Given the description of an element on the screen output the (x, y) to click on. 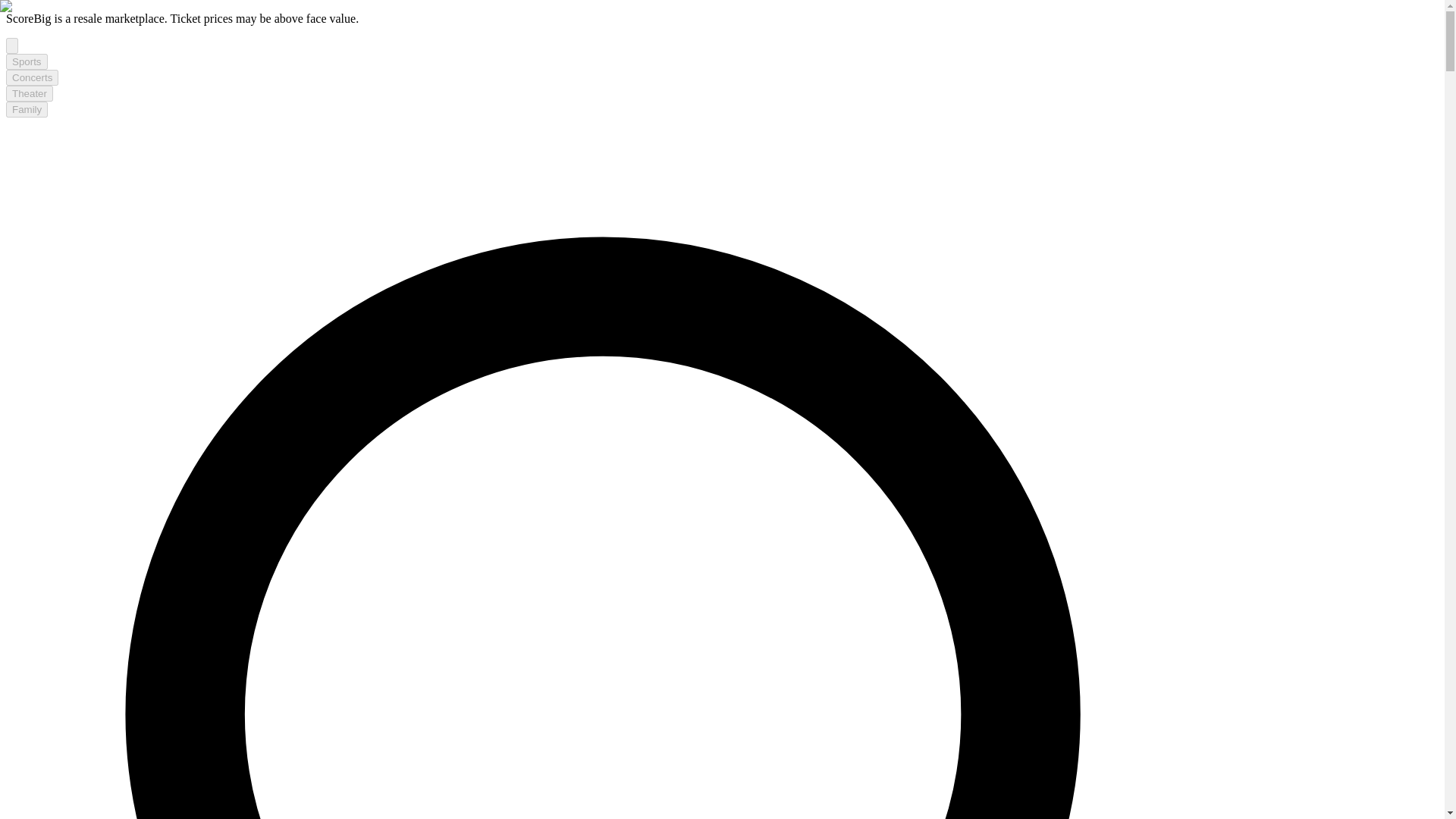
Theater (28, 93)
Sports (26, 61)
Concerts (31, 77)
Family (26, 109)
